Given the description of an element on the screen output the (x, y) to click on. 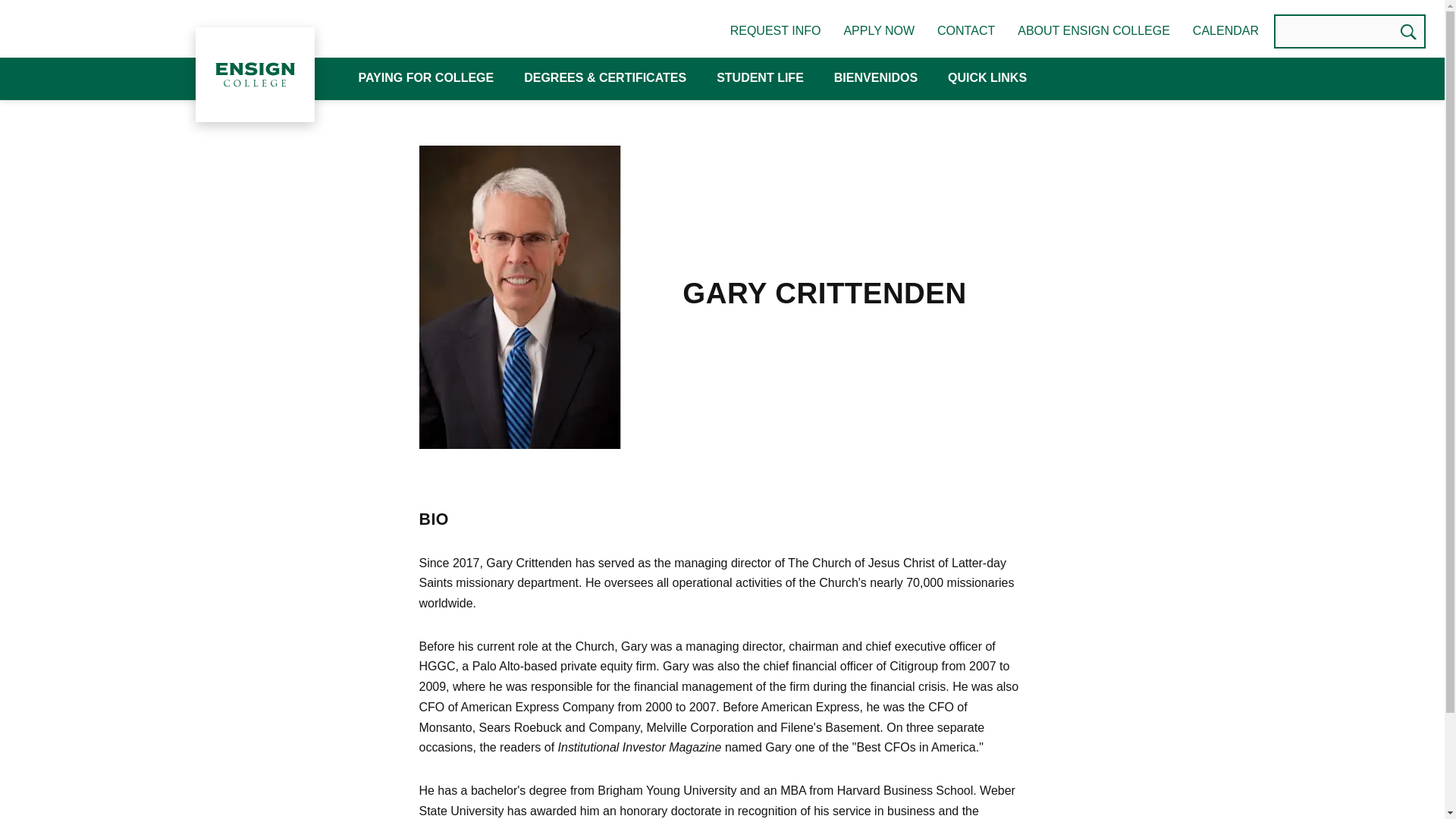
CONTACT (965, 30)
QUICK LINKS (987, 78)
CALENDAR (1225, 30)
ABOUT ENSIGN COLLEGE (1093, 30)
Search (1408, 31)
STUDENT LIFE (759, 78)
BIENVENIDOS (875, 78)
PAYING FOR COLLEGE (425, 78)
APPLY NOW (878, 30)
REQUEST INFO (775, 30)
